Given the description of an element on the screen output the (x, y) to click on. 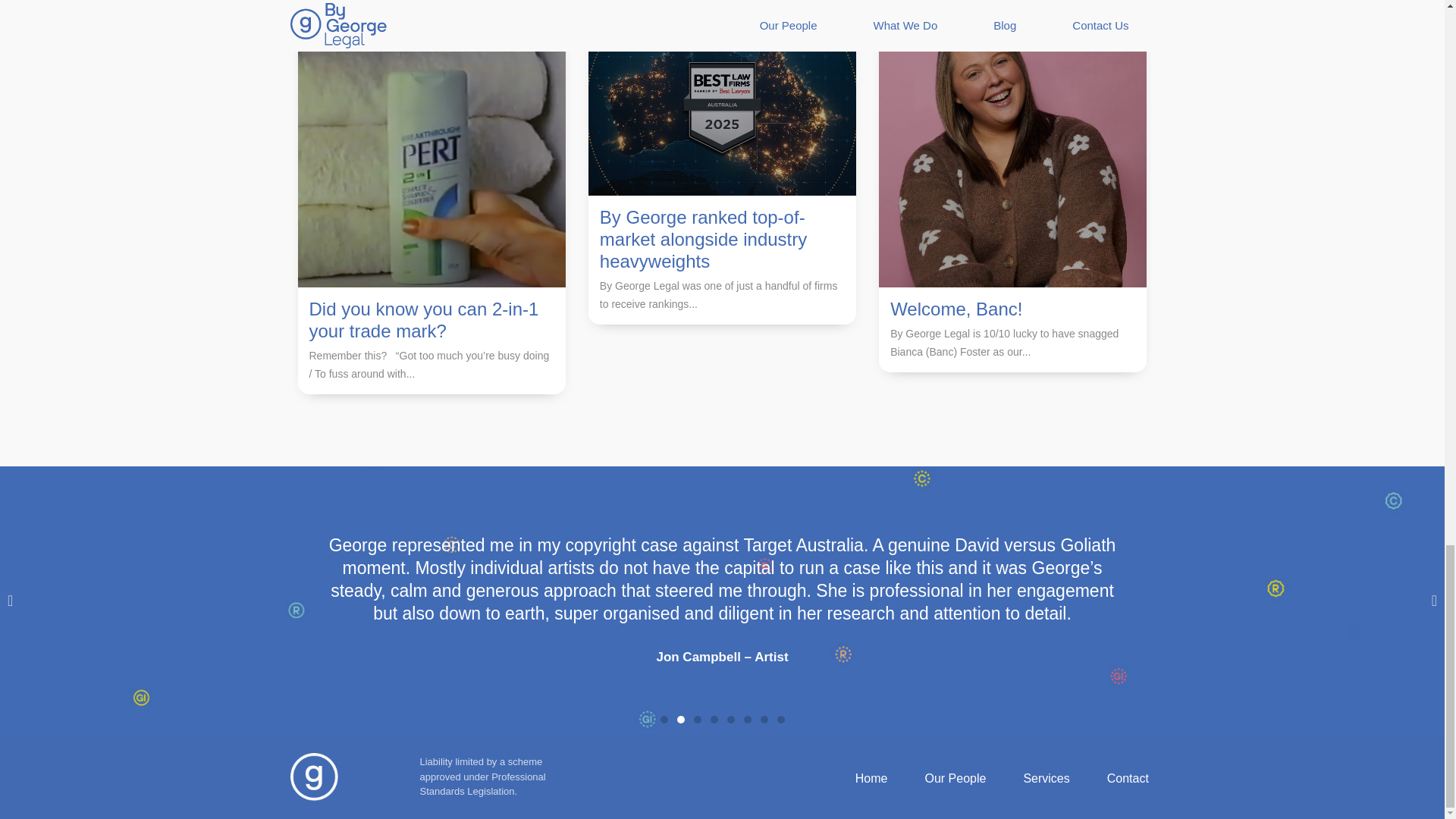
Services (1032, 778)
Home (858, 778)
Did you know you can 2-in-1 your trade mark? (423, 319)
Our People (942, 778)
Welcome, Banc! (955, 308)
Contact (1114, 778)
